Given the description of an element on the screen output the (x, y) to click on. 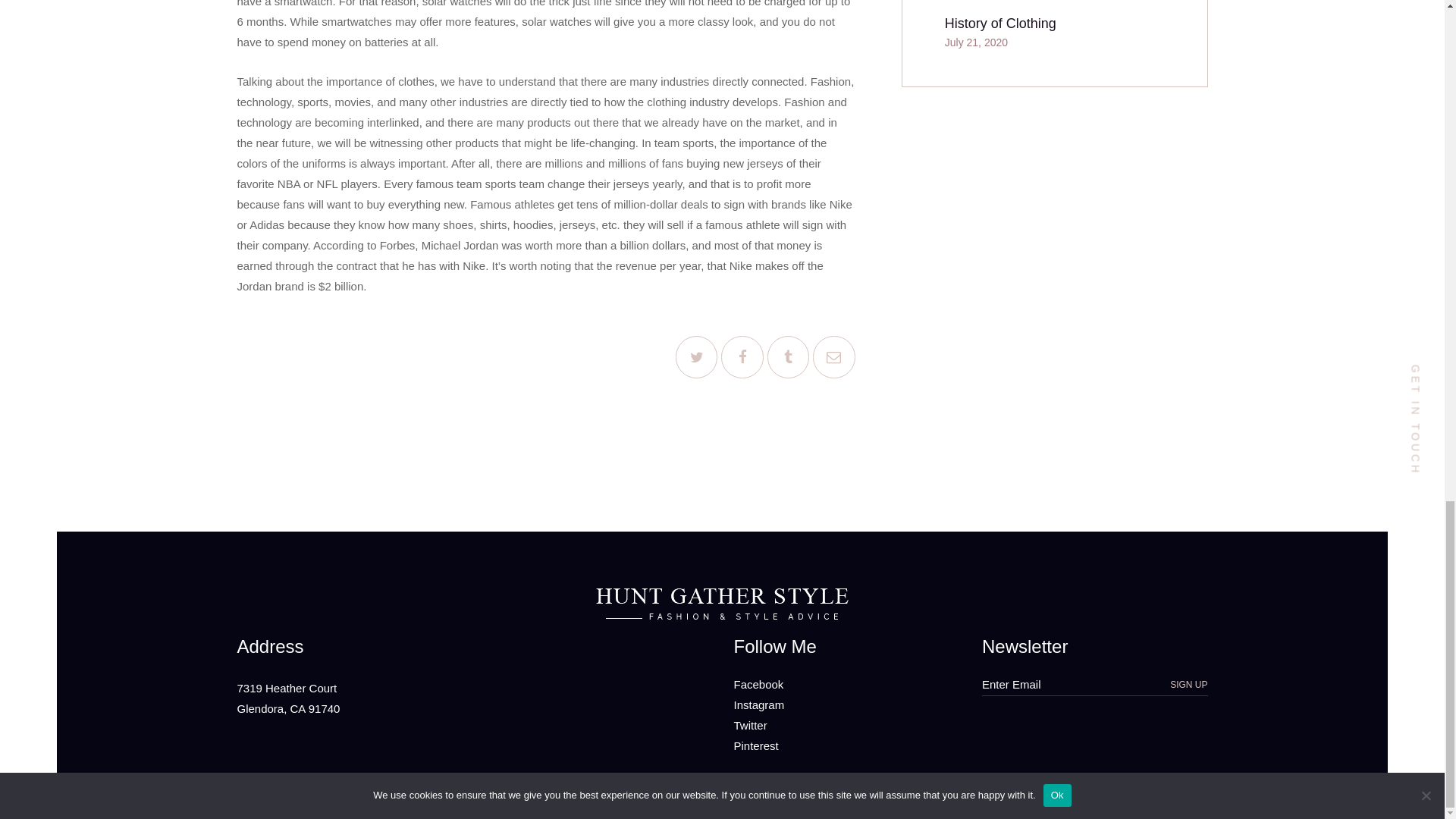
Facebook (758, 684)
Sign up (1188, 684)
Sign up (1188, 684)
Instagram (758, 704)
History of Clothing (1053, 23)
Pinterest (755, 745)
huntergatherstyle-dark (721, 603)
Terms And Conditions (780, 793)
Twitter (750, 725)
Privacy Policy (880, 793)
July 21, 2020 (975, 42)
